Given the description of an element on the screen output the (x, y) to click on. 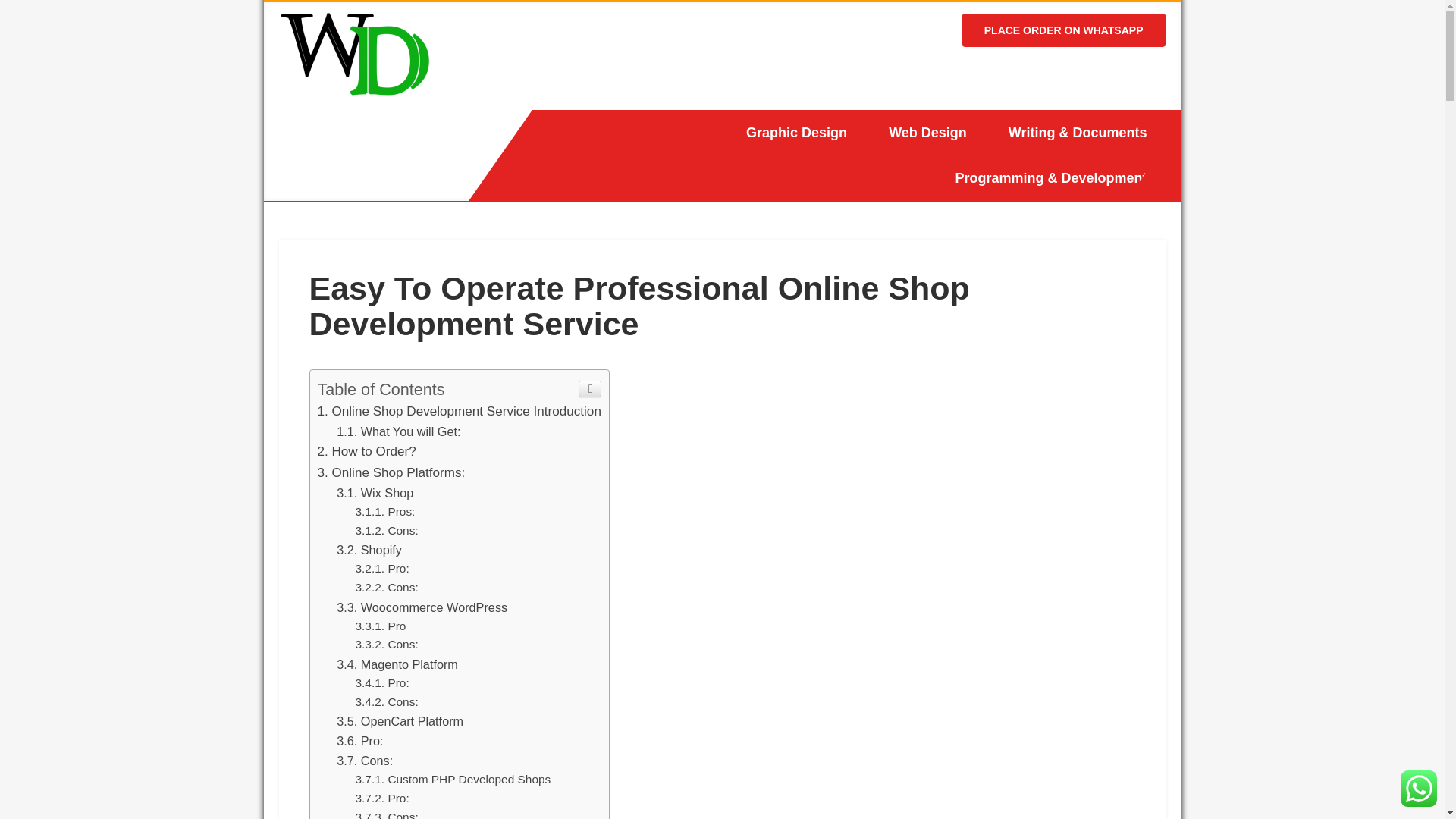
How to Order? (365, 451)
Pro: (382, 567)
Cons: (386, 530)
Magento Platform (397, 663)
Cons: (364, 760)
Cons: (386, 644)
Wix Shop (374, 492)
Cons: (364, 760)
Online Shop Platforms: (390, 472)
OpenCart Platform (399, 721)
How to Order? (365, 451)
WorkDigit (344, 116)
Custom PHP Developed Shops (452, 779)
Pro: (359, 740)
Pros: (384, 511)
